Given the description of an element on the screen output the (x, y) to click on. 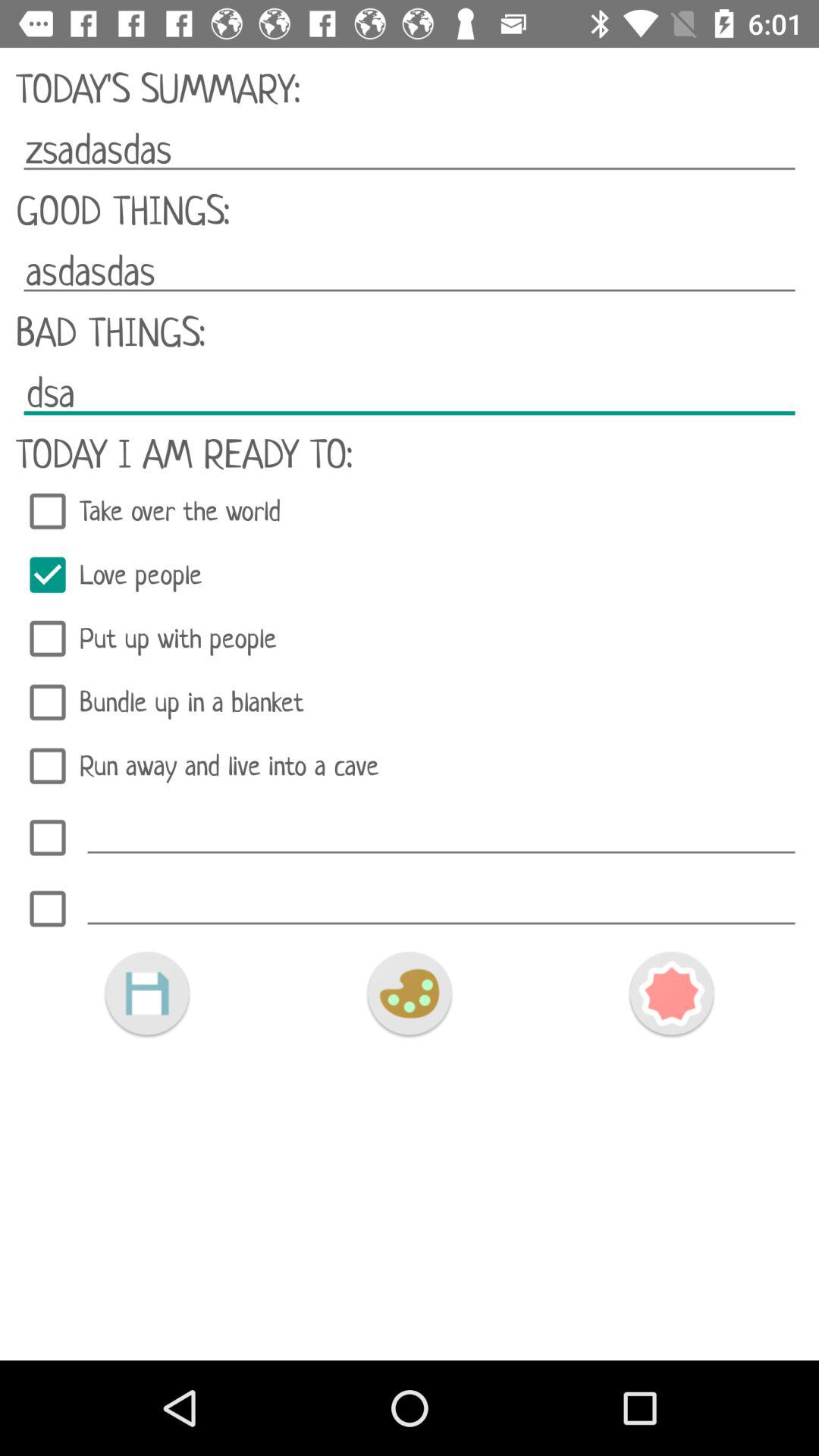
turn off asdasdas (409, 271)
